Given the description of an element on the screen output the (x, y) to click on. 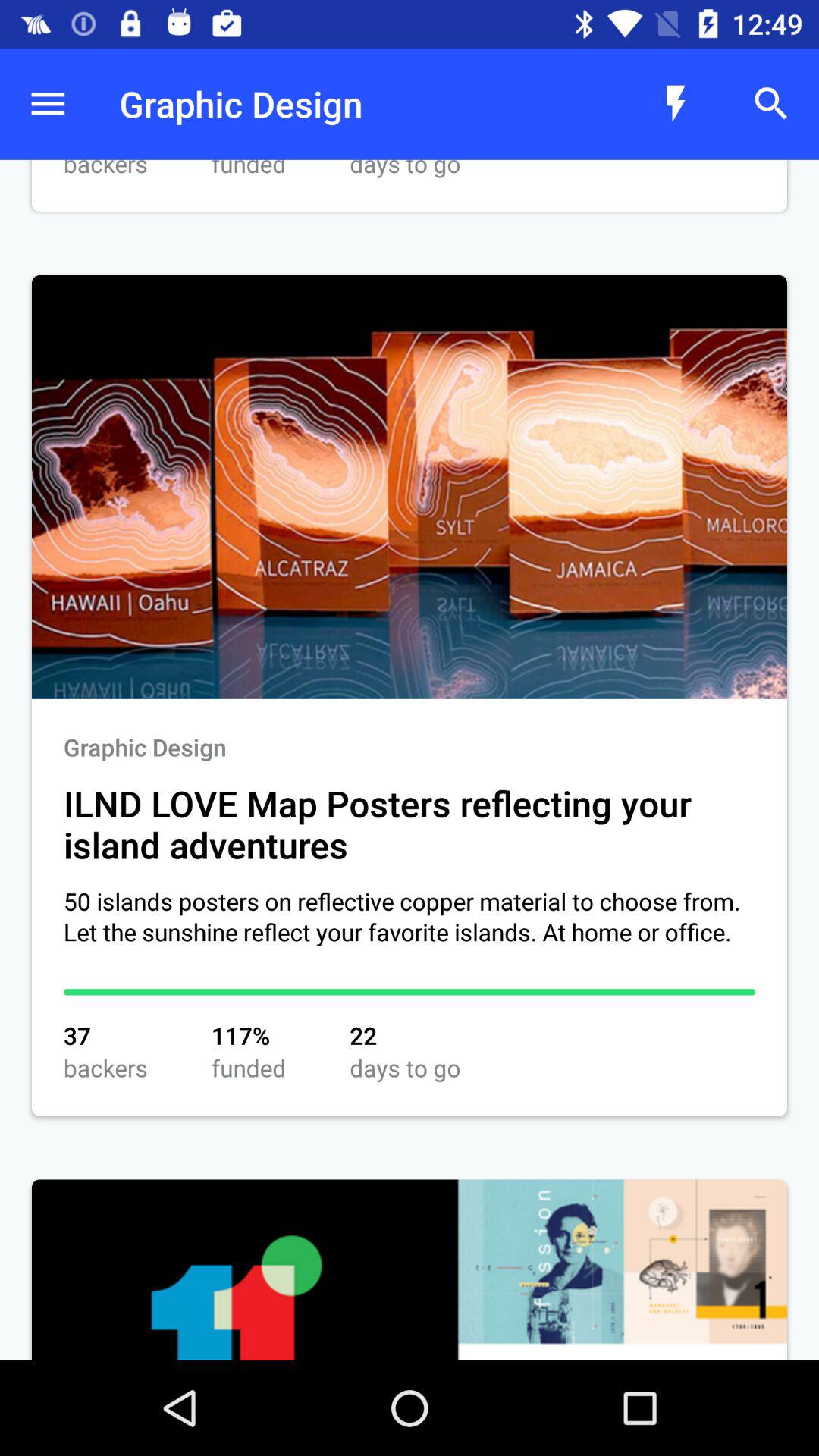
press item to the left of graphic design (47, 103)
